Given the description of an element on the screen output the (x, y) to click on. 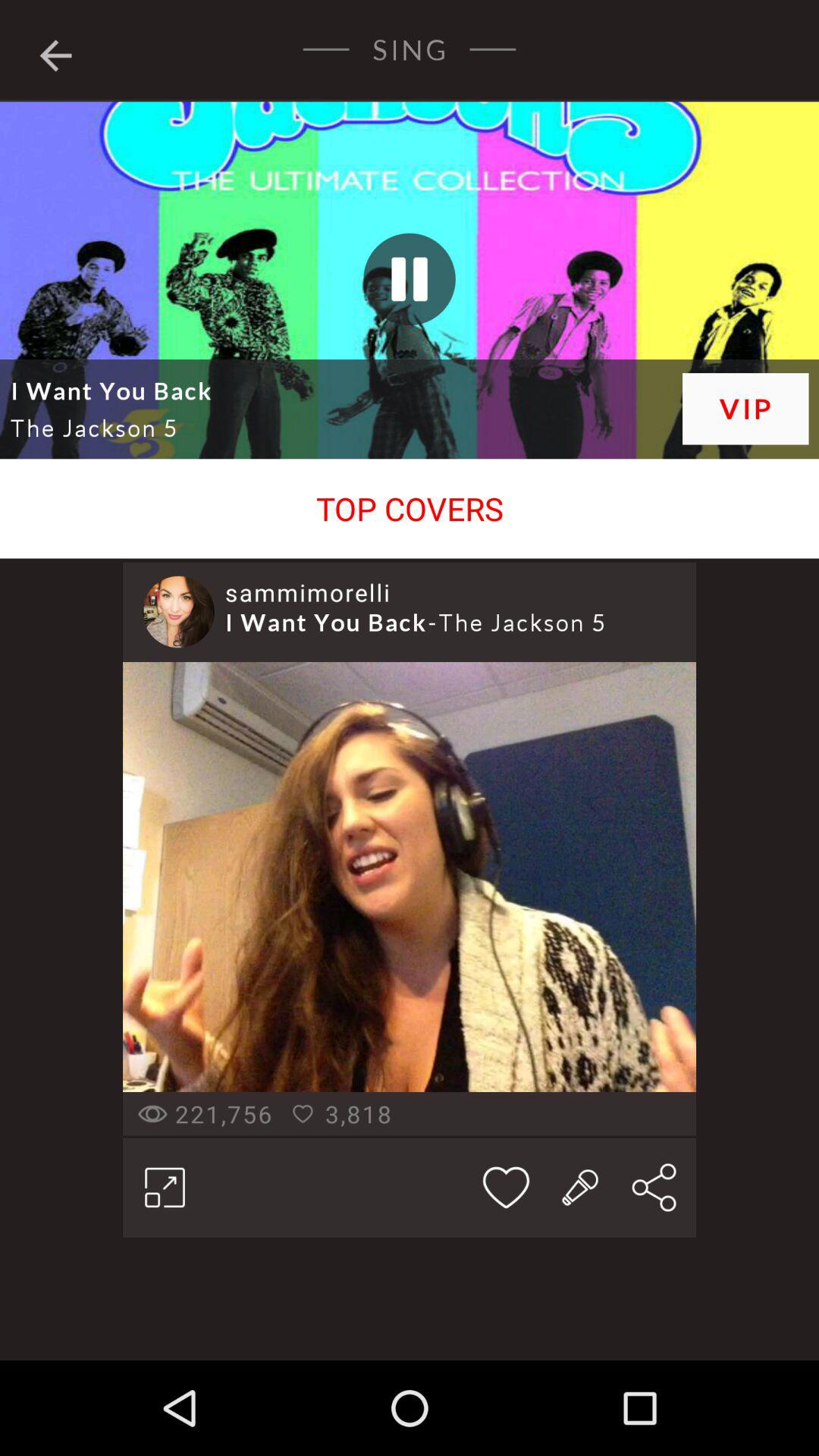
launch item to the left of sammimorelli (178, 611)
